Given the description of an element on the screen output the (x, y) to click on. 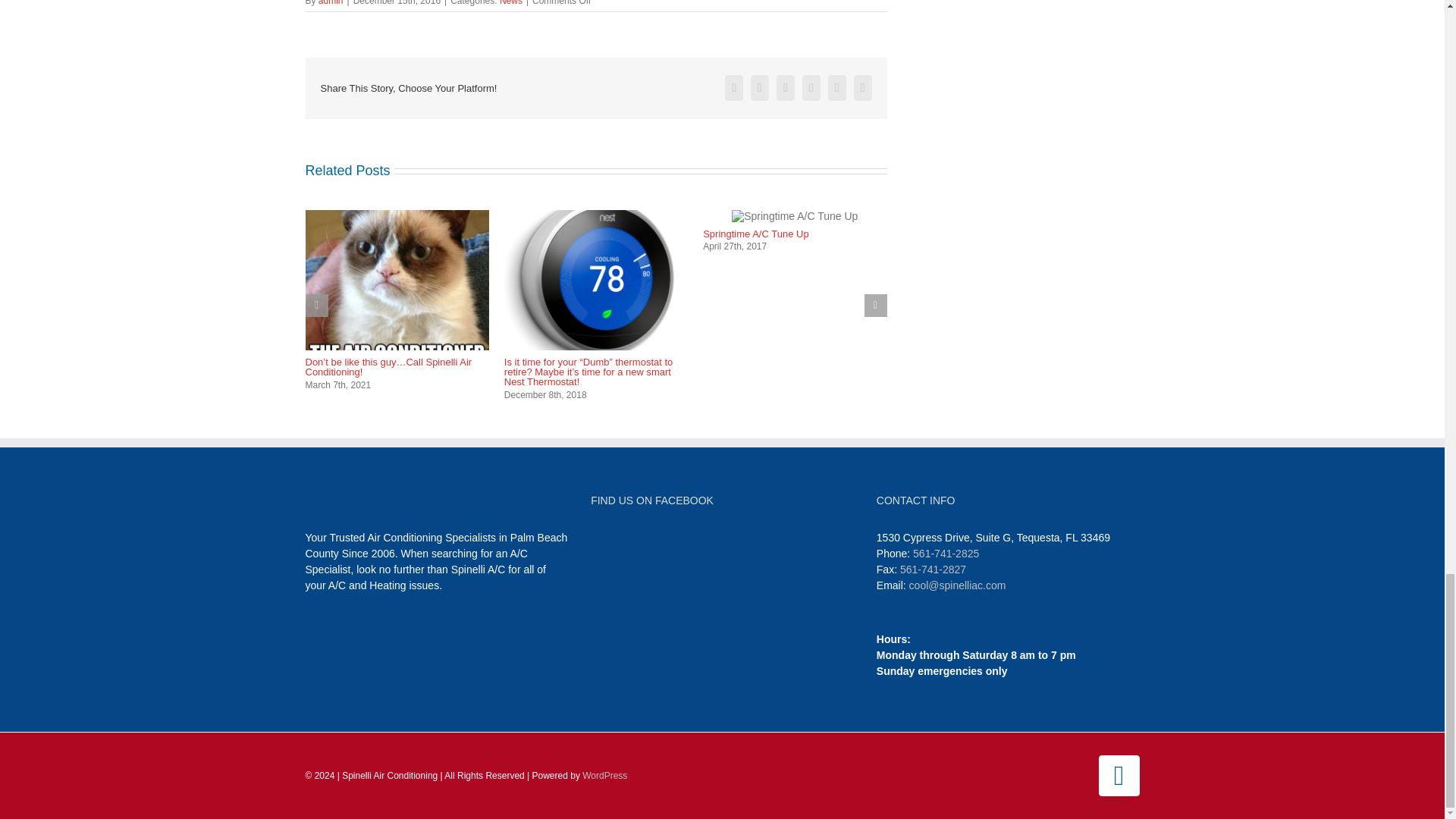
News (510, 2)
admin (330, 2)
Posts by admin (330, 2)
